Given the description of an element on the screen output the (x, y) to click on. 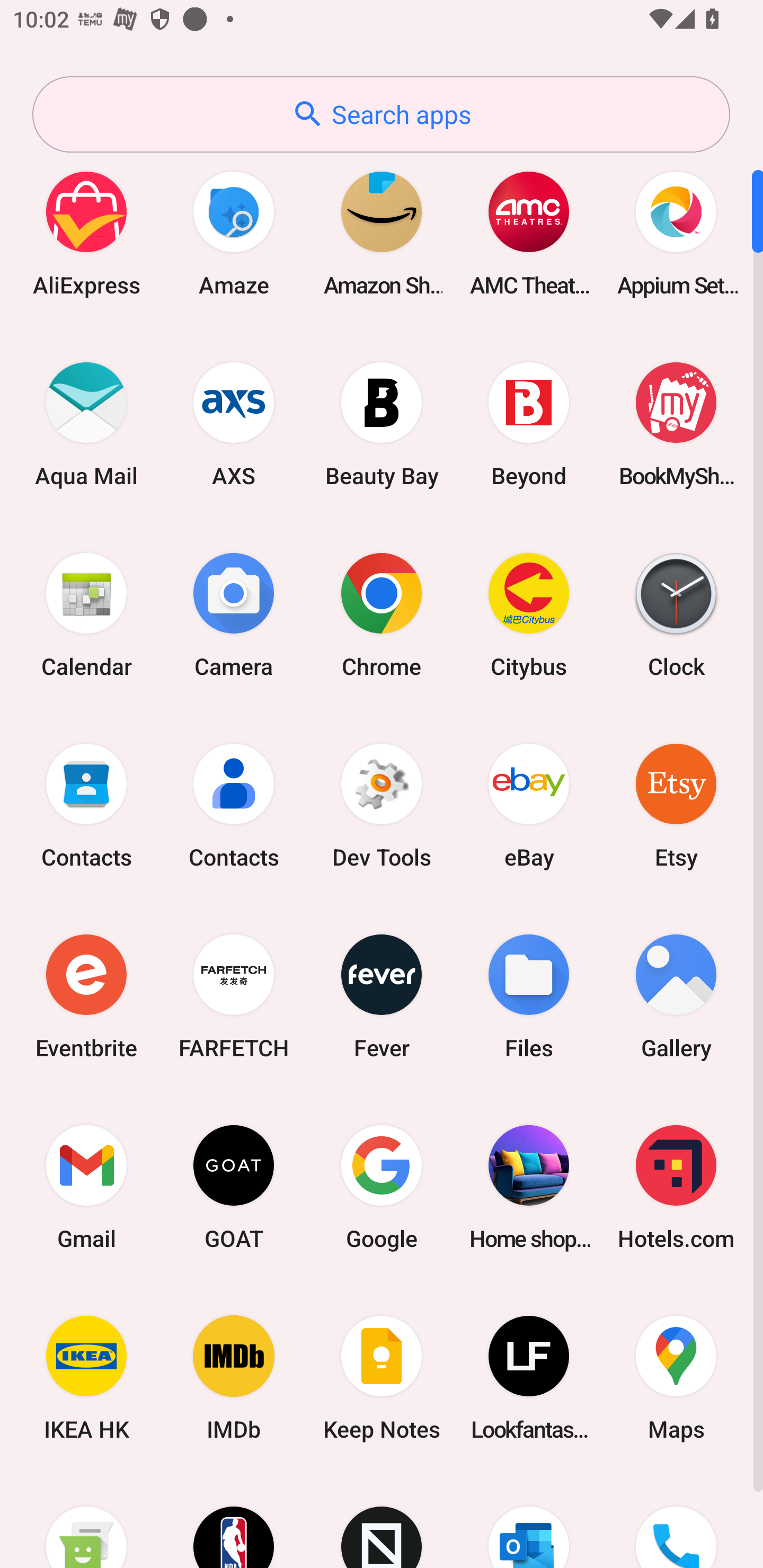
  Search apps (381, 114)
AliExpress (86, 233)
Amaze (233, 233)
Amazon Shopping (381, 233)
AMC Theatres (528, 233)
Appium Settings (676, 233)
Aqua Mail (86, 424)
AXS (233, 424)
Beauty Bay (381, 424)
Beyond (528, 424)
BookMyShow (676, 424)
Calendar (86, 614)
Camera (233, 614)
Chrome (381, 614)
Citybus (528, 614)
Clock (676, 614)
Contacts (86, 805)
Contacts (233, 805)
Dev Tools (381, 805)
eBay (528, 805)
Etsy (676, 805)
Eventbrite (86, 996)
FARFETCH (233, 996)
Fever (381, 996)
Files (528, 996)
Gallery (676, 996)
Gmail (86, 1186)
GOAT (233, 1186)
Google (381, 1186)
Home shopping (528, 1186)
Hotels.com (676, 1186)
IKEA HK (86, 1377)
IMDb (233, 1377)
Keep Notes (381, 1377)
Lookfantastic (528, 1377)
Maps (676, 1377)
